Given the description of an element on the screen output the (x, y) to click on. 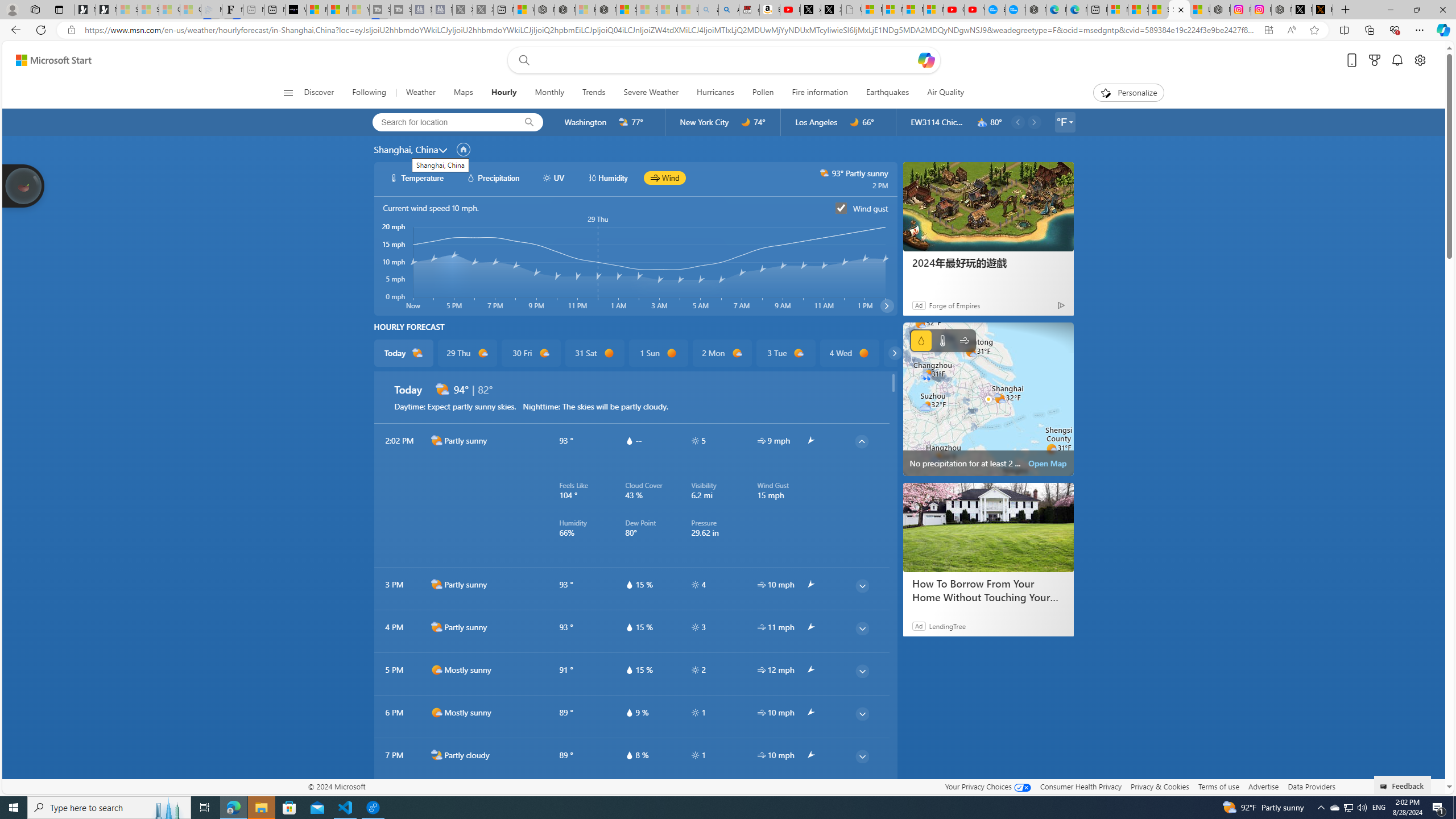
Temperature (942, 340)
Advertise (1263, 786)
d1000 (436, 712)
Pollen (762, 92)
hourlyChart/windBlack (655, 177)
d0000 (864, 353)
